Given the description of an element on the screen output the (x, y) to click on. 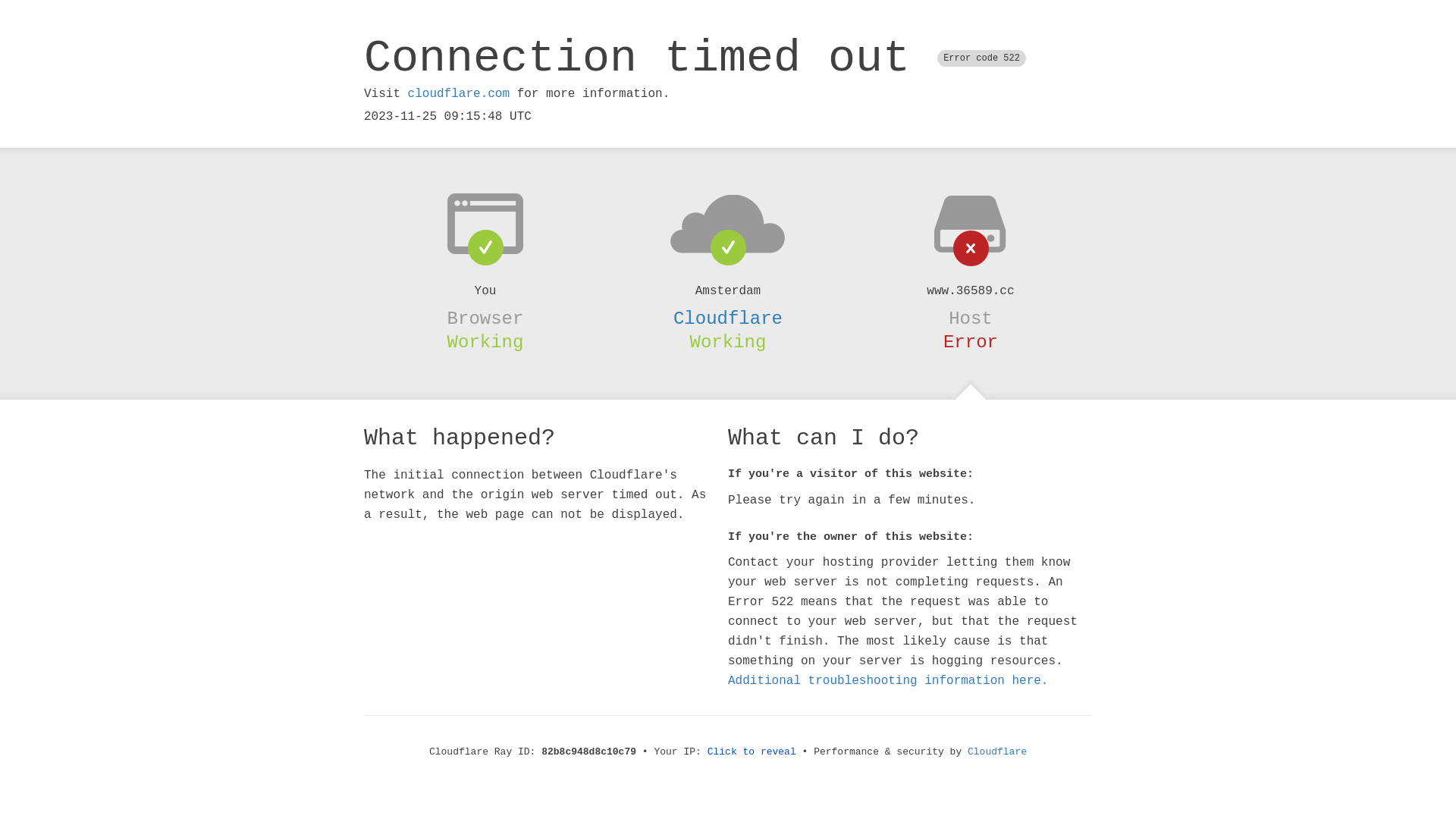
Cloudflare Element type: text (996, 751)
cloudflare.com Element type: text (458, 93)
Cloudflare Element type: text (727, 318)
Click to reveal Element type: text (751, 751)
Additional troubleshooting information here. Element type: text (888, 680)
